Given the description of an element on the screen output the (x, y) to click on. 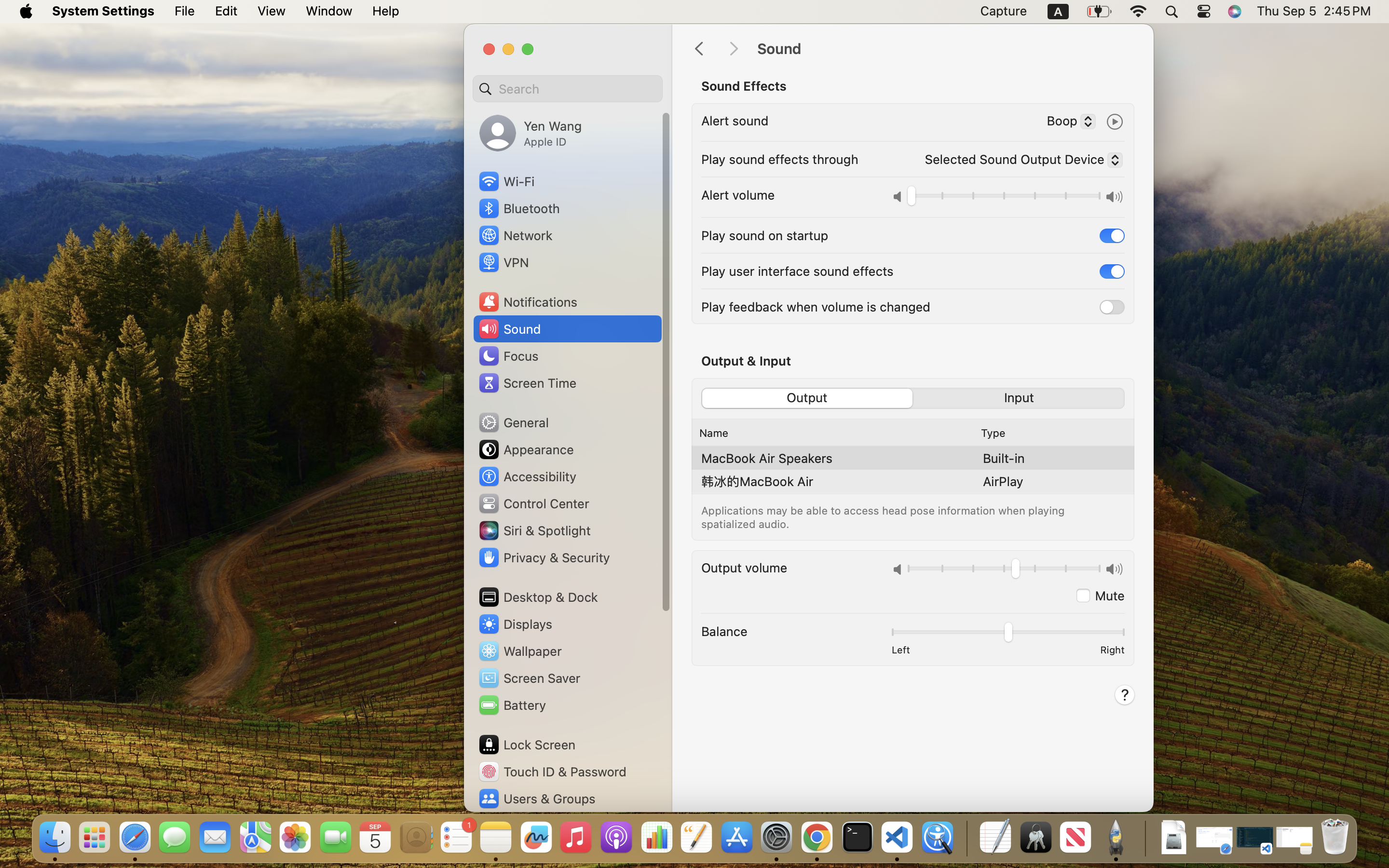
Screen Saver Element type: AXStaticText (528, 677)
Boop Element type: AXPopUpButton (1067, 122)
1 Element type: AXRadioButton (806, 397)
1 Element type: AXCheckBox (1111, 235)
Screen Time Element type: AXStaticText (526, 382)
